Given the description of an element on the screen output the (x, y) to click on. 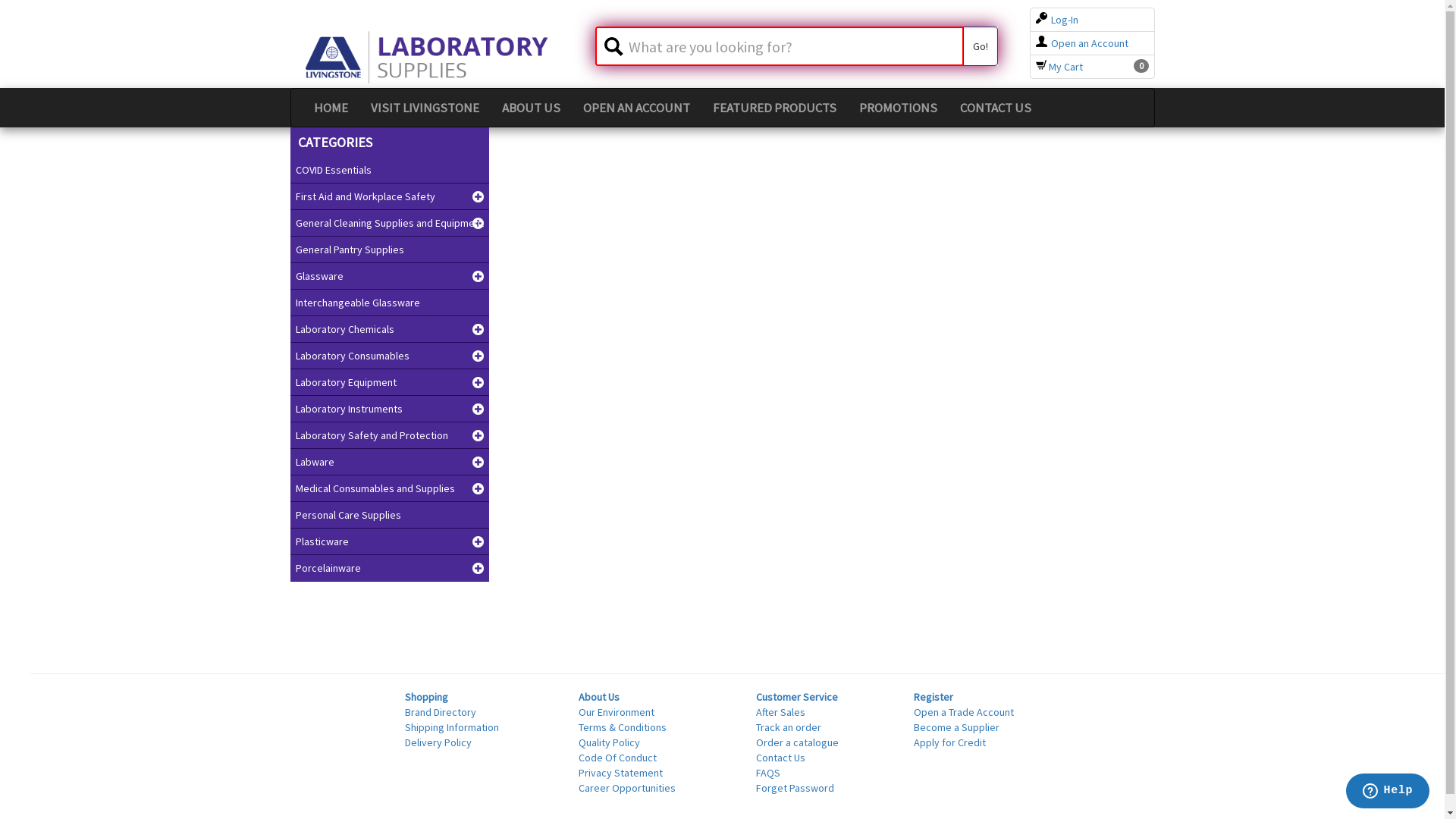
Open a Trade Account Element type: text (963, 711)
Interchangeable Glassware Element type: text (389, 302)
Personal Care Supplies Element type: text (389, 514)
VISIT LIVINGSTONE Element type: text (424, 107)
COVID Essentials Element type: text (389, 169)
Porcelainware Element type: text (389, 567)
About Us Element type: text (598, 696)
OPEN AN ACCOUNT Element type: text (636, 107)
Forget Password Element type: text (795, 787)
Apply for Credit Element type: text (949, 742)
Open an Account Element type: text (1081, 43)
Terms & Conditions Element type: text (622, 727)
Customer Service Element type: text (796, 696)
Contact Us Element type: text (780, 757)
Laboratory Equipment Element type: text (389, 382)
Glassware Element type: text (389, 275)
Code Of Conduct Element type: text (617, 757)
Laboratory Chemicals Element type: text (389, 329)
PROMOTIONS Element type: text (897, 107)
After Sales Element type: text (780, 711)
Go! Element type: text (980, 45)
Brand Directory Element type: text (440, 711)
FAQS Element type: text (768, 772)
Shopping Element type: text (426, 696)
Plasticware Element type: text (389, 541)
Track an order Element type: text (788, 727)
Become a Supplier Element type: text (956, 727)
HOME Element type: text (329, 107)
My Cart Element type: text (1058, 66)
General Cleaning Supplies and Equipment Element type: text (389, 222)
CONTACT US Element type: text (994, 107)
Laboratory Instruments Element type: text (389, 408)
Register Element type: text (933, 696)
ABOUT US Element type: text (530, 107)
Labware Element type: text (389, 461)
Log-In Element type: text (1056, 19)
Medical Consumables and Supplies Element type: text (389, 488)
General Pantry Supplies Element type: text (389, 249)
Laboratory Safety and Protection Element type: text (389, 435)
Our Environment Element type: text (616, 711)
Opens a widget where you can chat to one of our agents Element type: hover (1387, 792)
Privacy Statement Element type: text (620, 772)
Order a catalogue Element type: text (797, 742)
Delivery Policy Element type: text (437, 742)
Shipping Information Element type: text (451, 727)
Quality Policy Element type: text (609, 742)
FEATURED PRODUCTS Element type: text (773, 107)
Career Opportunities Element type: text (626, 787)
Laboratory Consumables Element type: text (389, 355)
First Aid and Workplace Safety Element type: text (389, 196)
